Given the description of an element on the screen output the (x, y) to click on. 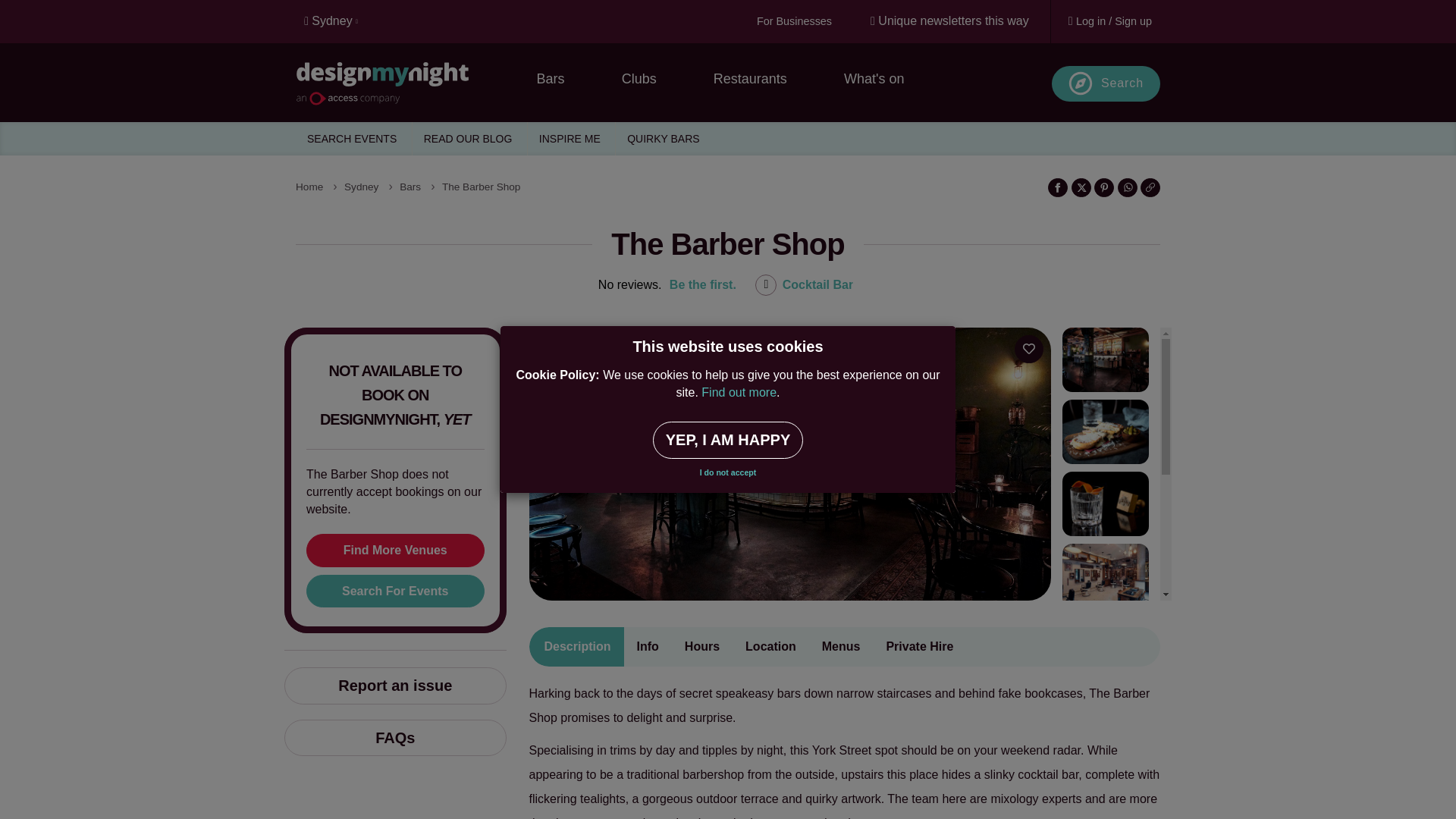
Clubs (638, 78)
Search (1105, 83)
Bars (550, 78)
For Businesses (793, 21)
DesignMyNight (403, 86)
Sydney (335, 21)
Unique newsletters this way (949, 21)
